Given the description of an element on the screen output the (x, y) to click on. 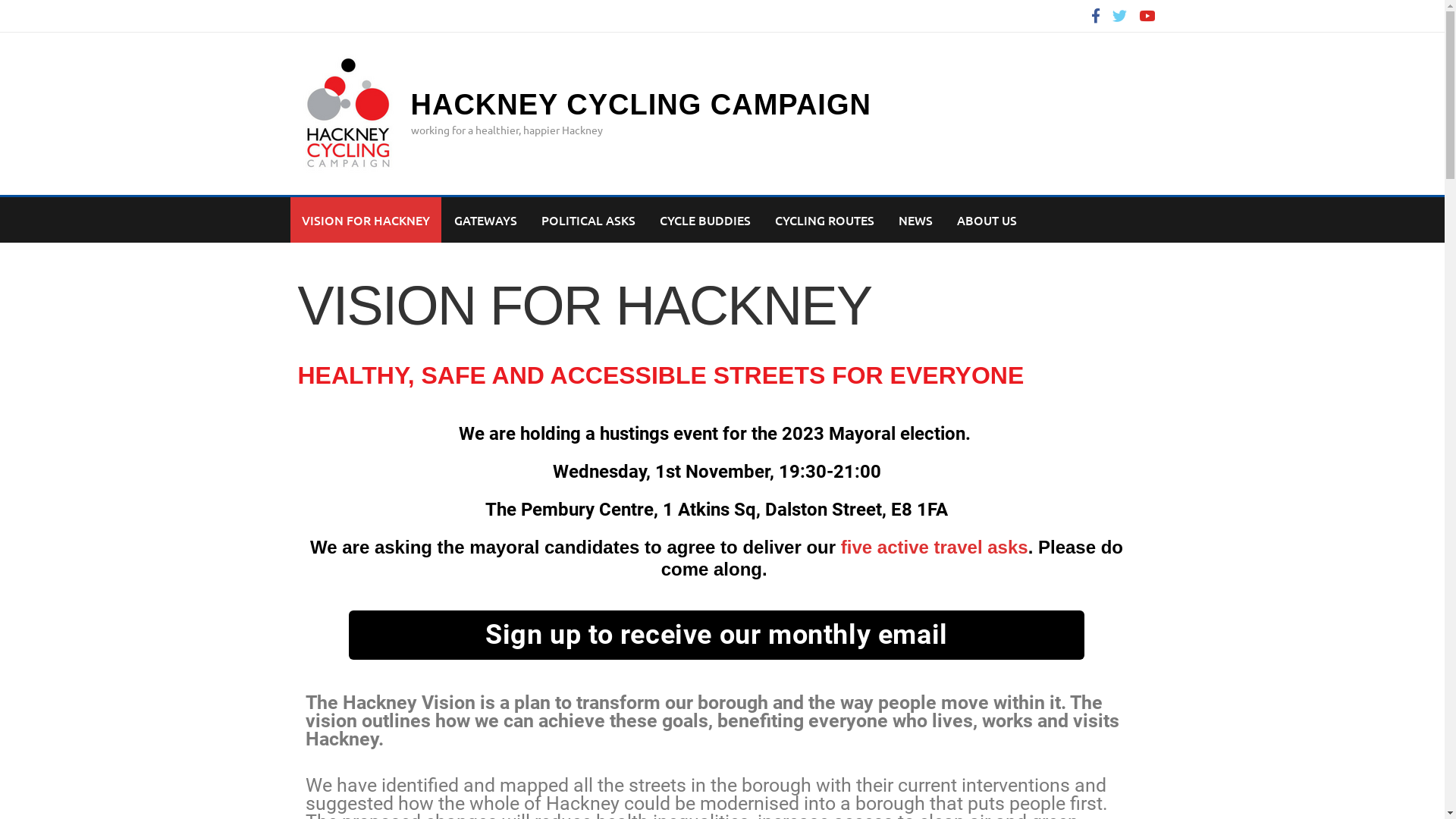
CYCLING ROUTES Element type: text (823, 219)
twitter Element type: hover (1118, 15)
VISION FOR HACKNEY Element type: text (364, 219)
NEWS Element type: text (915, 219)
GATEWAYS Element type: text (485, 219)
HACKNEY CYCLING CAMPAIGN Element type: text (641, 104)
facebook Element type: hover (1094, 15)
POLITICAL ASKS Element type: text (587, 219)
Sign up to receive our monthly email Element type: text (716, 634)
five active travel asks Element type: text (934, 546)
youtube Element type: hover (1146, 15)
ABOUT US Element type: text (985, 219)
CYCLE BUDDIES Element type: text (704, 219)
